Given the description of an element on the screen output the (x, y) to click on. 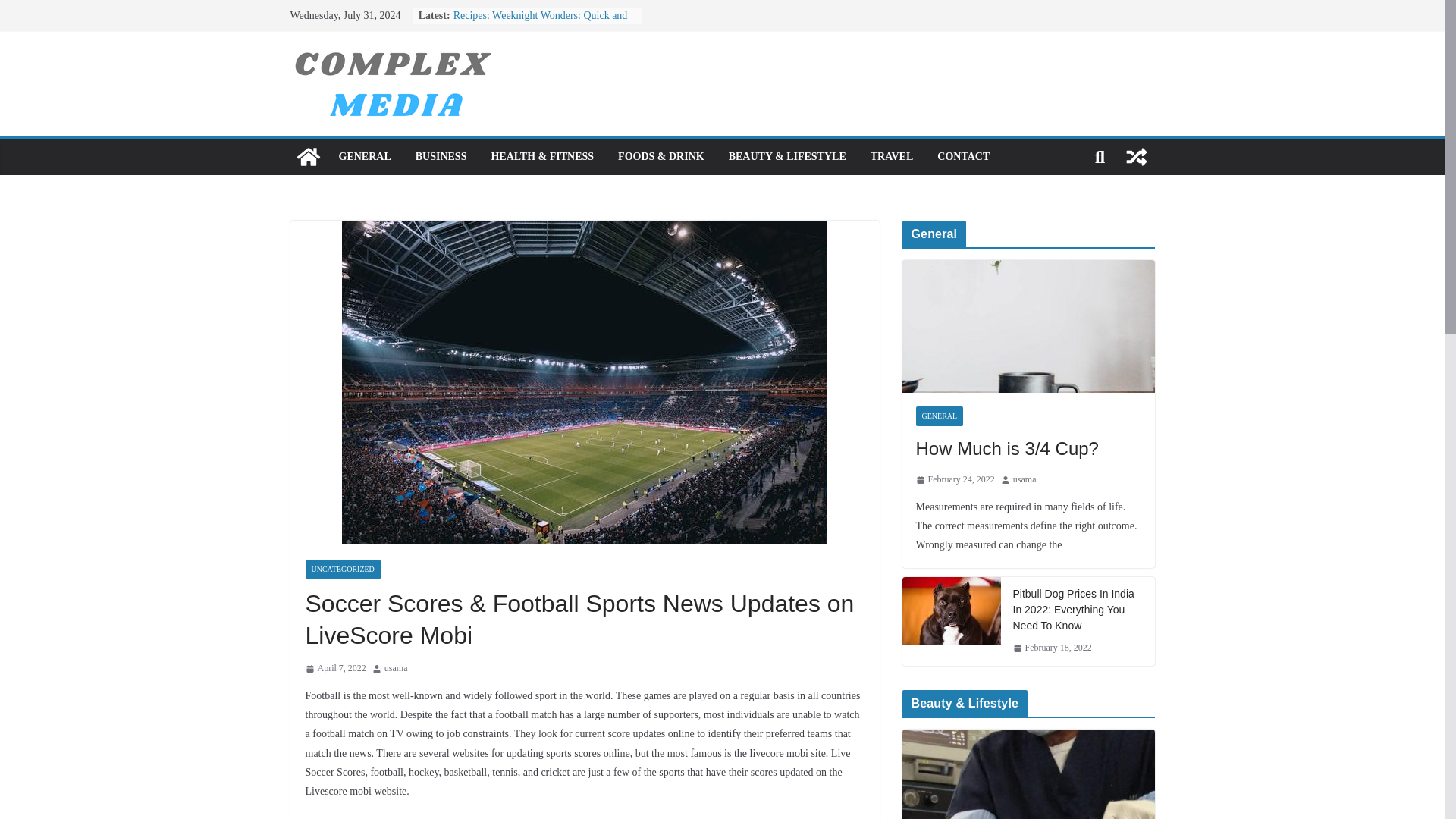
UNCATEGORIZED (342, 569)
GENERAL (939, 415)
February 18, 2022 (1052, 647)
TRAVEL (892, 156)
9:23 am (334, 668)
GENERAL (363, 156)
February 24, 2022 (954, 479)
CONTACT (963, 156)
April 7, 2022 (334, 668)
The Complex Media (307, 156)
BUSINESS (440, 156)
usama (1024, 479)
